Given the description of an element on the screen output the (x, y) to click on. 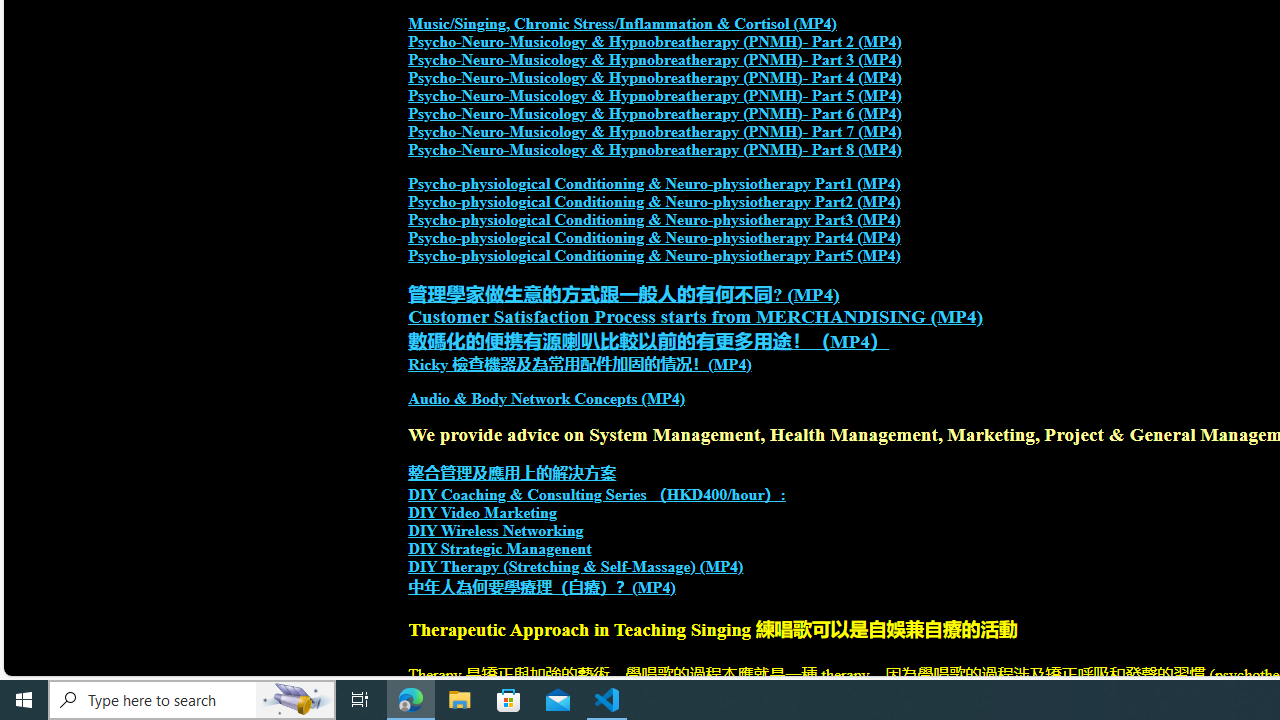
Audio & Body Network Concepts (MP4) (547, 399)
(MP4) (653, 587)
